Given the description of an element on the screen output the (x, y) to click on. 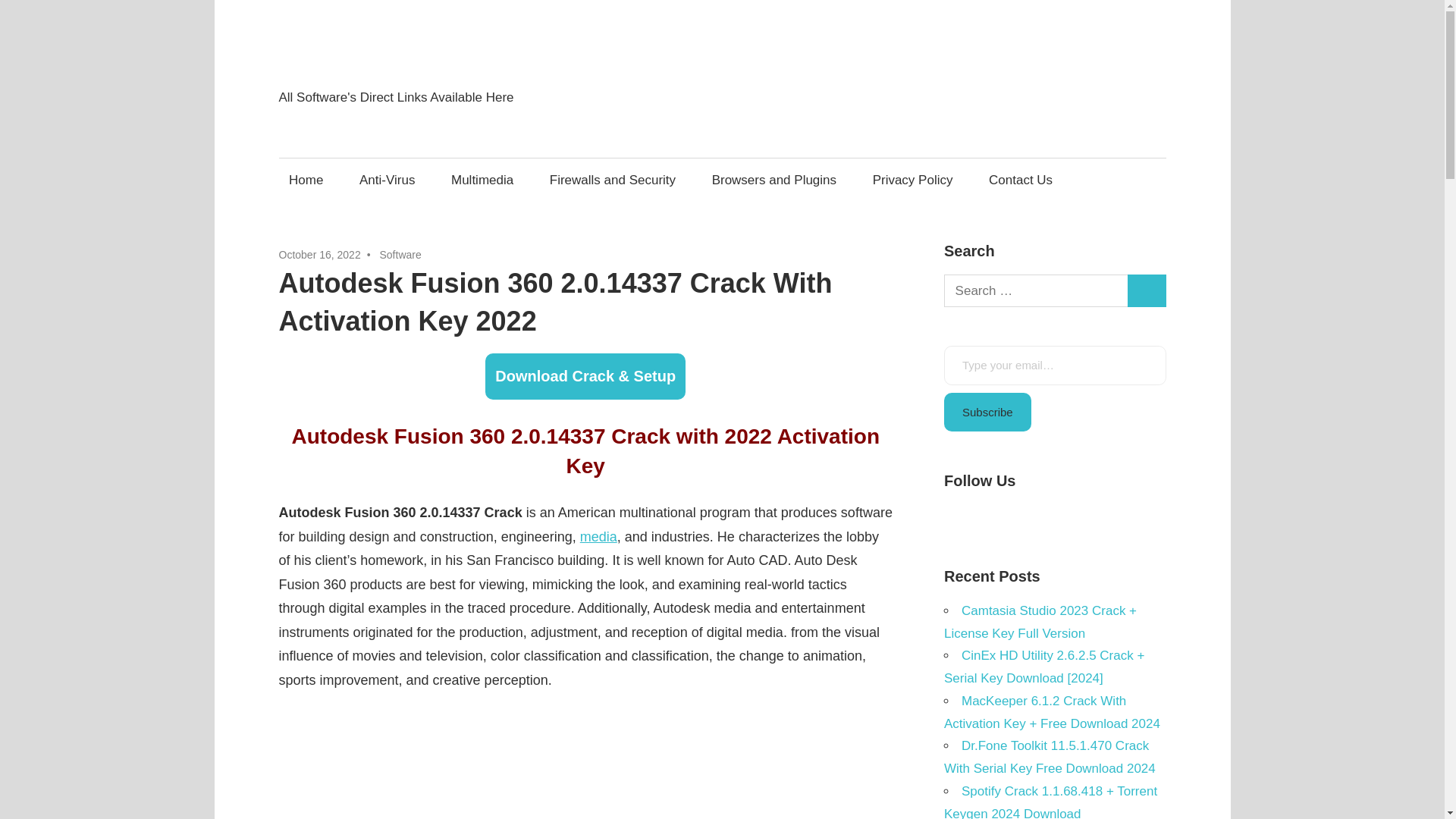
Privacy Policy (911, 180)
Please fill in this field. (1054, 364)
Contact Us (1020, 180)
Software (399, 254)
7:01 am (320, 254)
Home (306, 180)
media (598, 536)
October 16, 2022 (320, 254)
Multimedia (481, 180)
Search for: (1035, 290)
Browsers and Plugins (774, 180)
Anti-Virus (387, 180)
Firewalls and Security (611, 180)
